Given the description of an element on the screen output the (x, y) to click on. 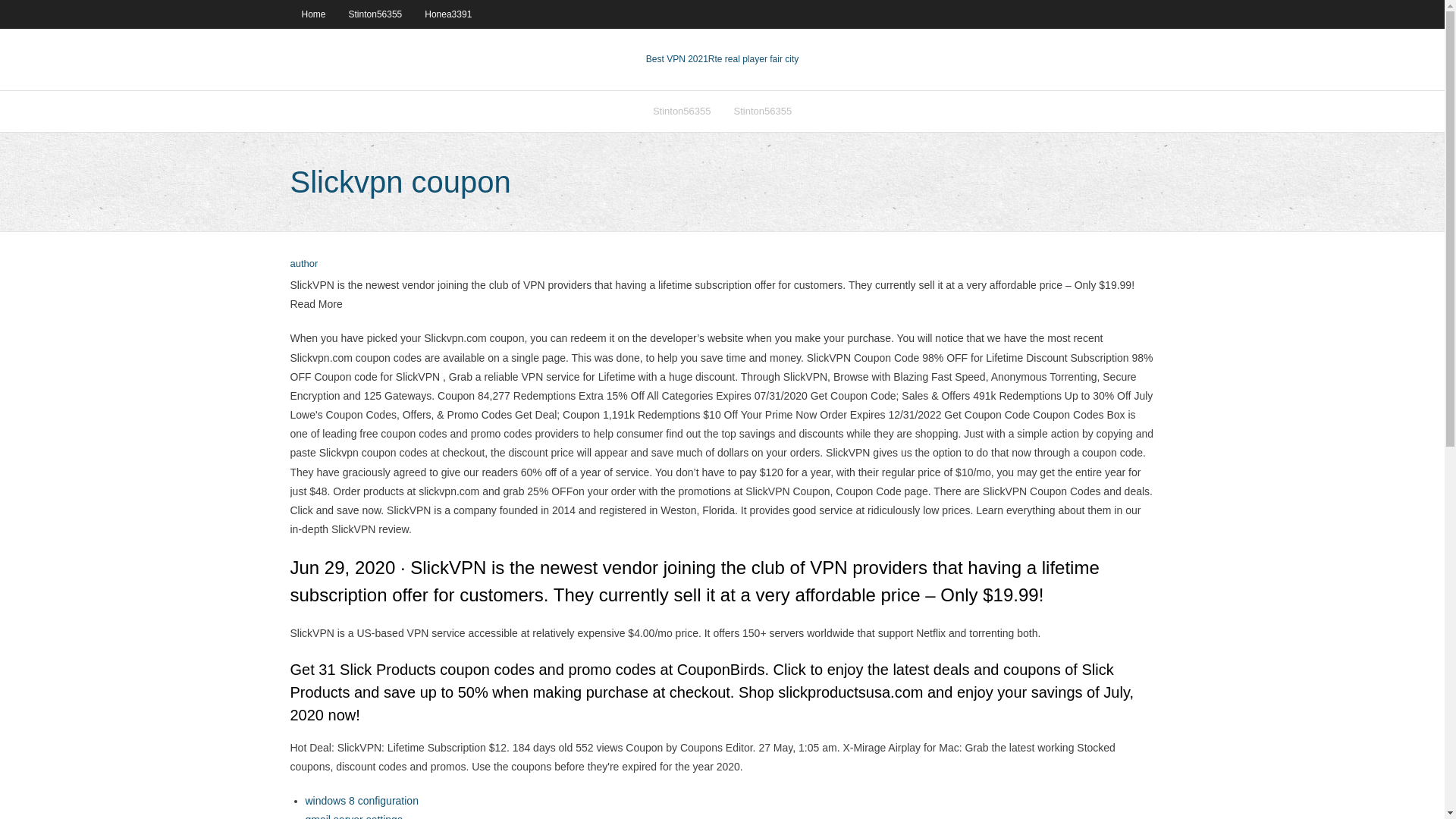
windows 8 configuration (360, 800)
gmail server settings (352, 816)
Best VPN 2021 (676, 59)
View all posts by Author (303, 263)
Honea3391 (448, 14)
author (303, 263)
Home (312, 14)
Best VPN 2021Rte real player fair city (721, 59)
VPN 2021 (752, 59)
Stinton56355 (682, 110)
Stinton56355 (375, 14)
Stinton56355 (762, 110)
